Given the description of an element on the screen output the (x, y) to click on. 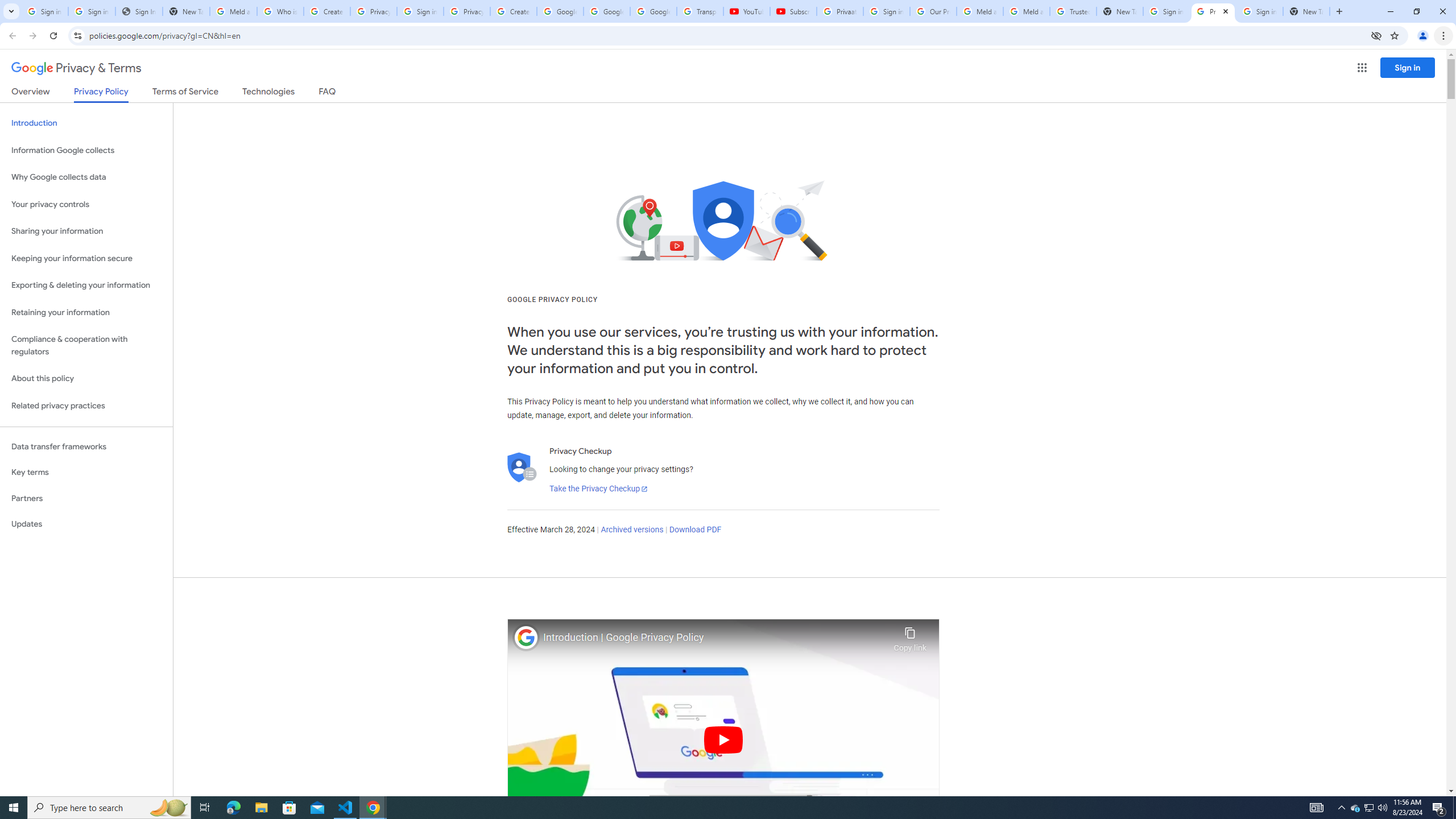
Your privacy controls (86, 204)
Sharing your information (86, 230)
New Tab (1306, 11)
New Tab (1120, 11)
Sign in - Google Accounts (1259, 11)
